Given the description of an element on the screen output the (x, y) to click on. 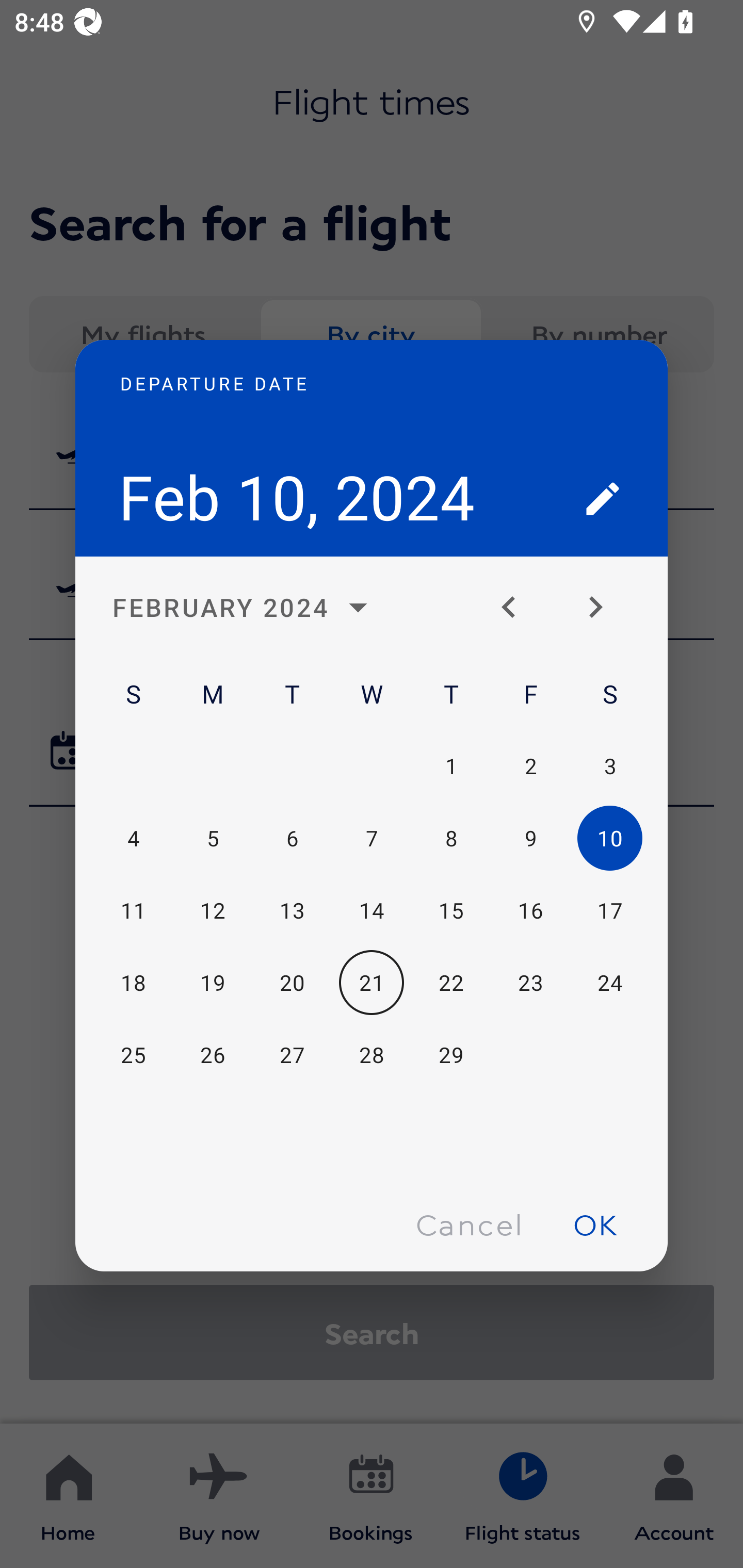
Switch to text input mode (602, 498)
FEBRUARY 2024 (245, 607)
Change to previous month (515, 607)
Change to next month (602, 607)
1 Thu, Feb 1 (450, 765)
2 Fri, Feb 2 (530, 765)
3 Sat, Feb 3 (609, 765)
4 Sun, Feb 4 (133, 838)
5 Mon, Feb 5 (212, 838)
6 Tue, Feb 6 (291, 838)
7 Wed, Feb 7 (371, 838)
8 Thu, Feb 8 (450, 838)
9 Fri, Feb 9 (530, 838)
10 Sat, Feb 10 (609, 838)
11 Sun, Feb 11 (133, 910)
12 Mon, Feb 12 (212, 910)
13 Tue, Feb 13 (291, 910)
14 Wed, Feb 14 (371, 910)
15 Thu, Feb 15 (450, 910)
16 Fri, Feb 16 (530, 910)
17 Sat, Feb 17 (609, 910)
18 Sun, Feb 18 (133, 983)
19 Mon, Feb 19 (212, 983)
20 Tue, Feb 20 (291, 983)
21 Today Wed, Feb 21 (371, 983)
22 Thu, Feb 22 (450, 983)
23 Fri, Feb 23 (530, 983)
24 Sat, Feb 24 (609, 983)
25 Sun, Feb 25 (133, 1055)
26 Mon, Feb 26 (212, 1055)
27 Tue, Feb 27 (291, 1055)
28 Wed, Feb 28 (371, 1055)
29 Thu, Feb 29 (450, 1055)
Cancel (468, 1224)
OK null, OK (595, 1224)
